Given the description of an element on the screen output the (x, y) to click on. 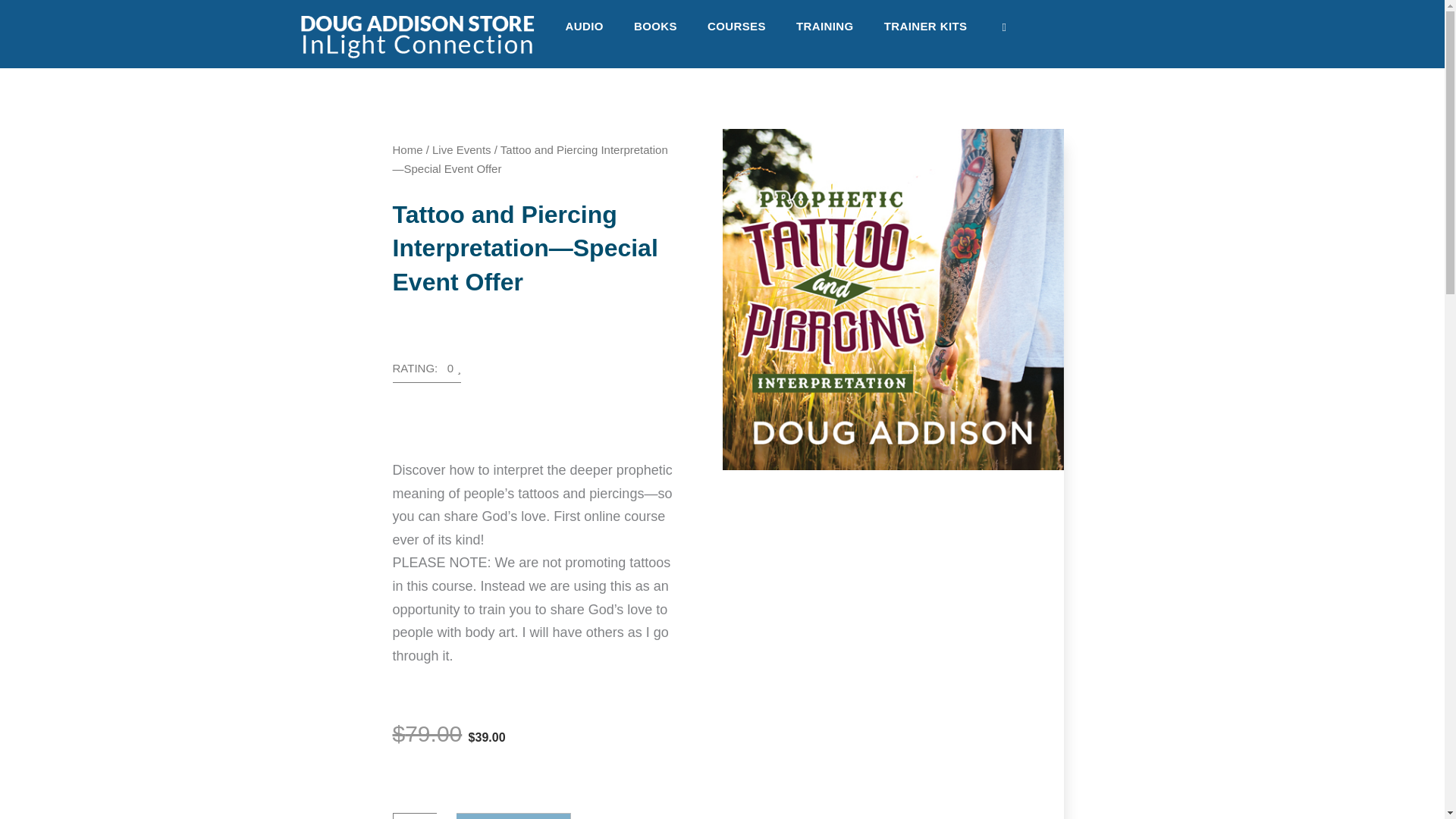
Live Events (462, 149)
COURSES (736, 26)
TRAINING (824, 26)
BOOKS (655, 26)
AUDIO (584, 26)
TRAINER KITS (925, 26)
ADD TO CART (513, 816)
RATING:   0 (427, 372)
1 (414, 816)
Home (408, 149)
